Given the description of an element on the screen output the (x, y) to click on. 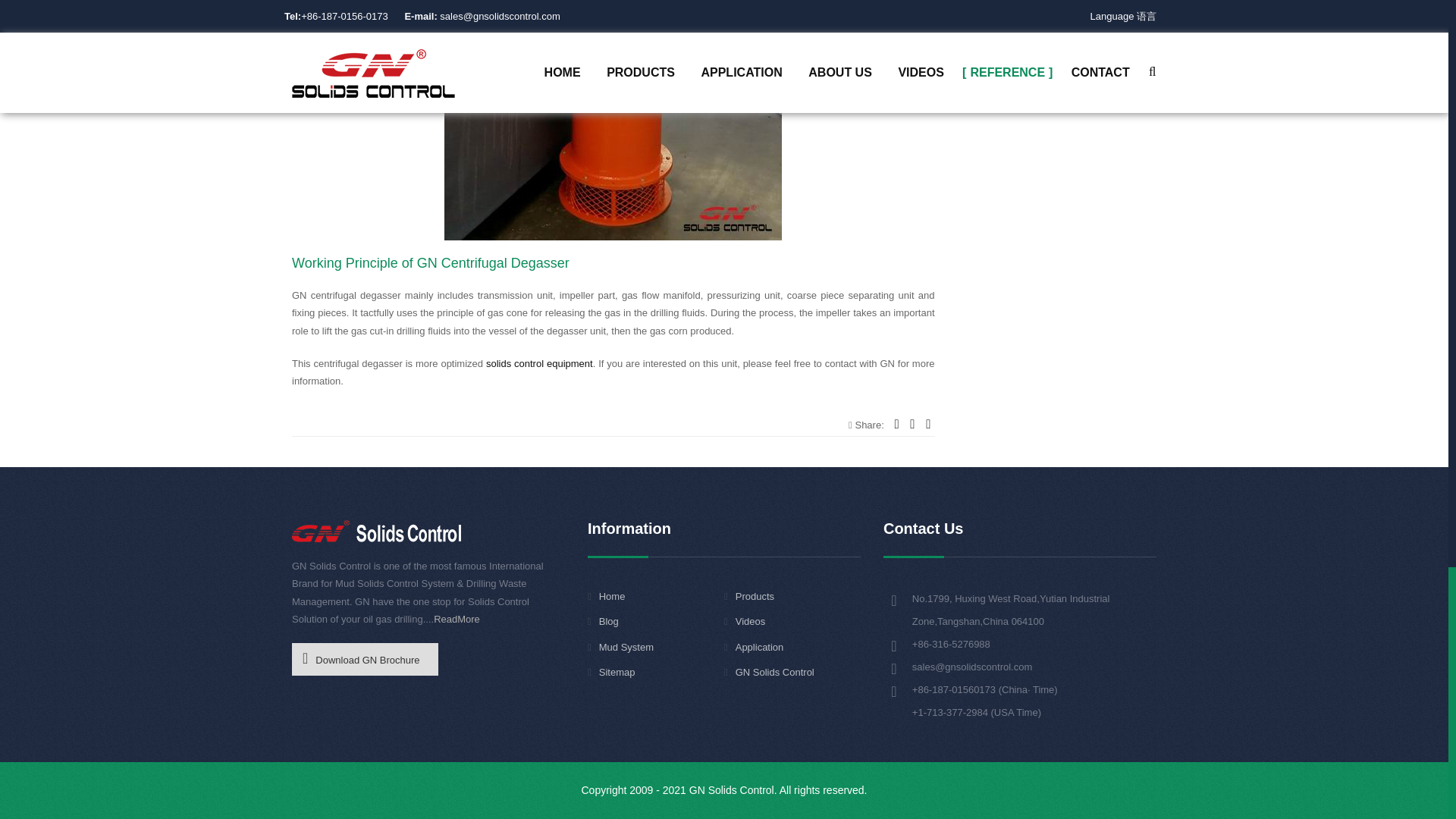
solids control equipment (539, 363)
